Given the description of an element on the screen output the (x, y) to click on. 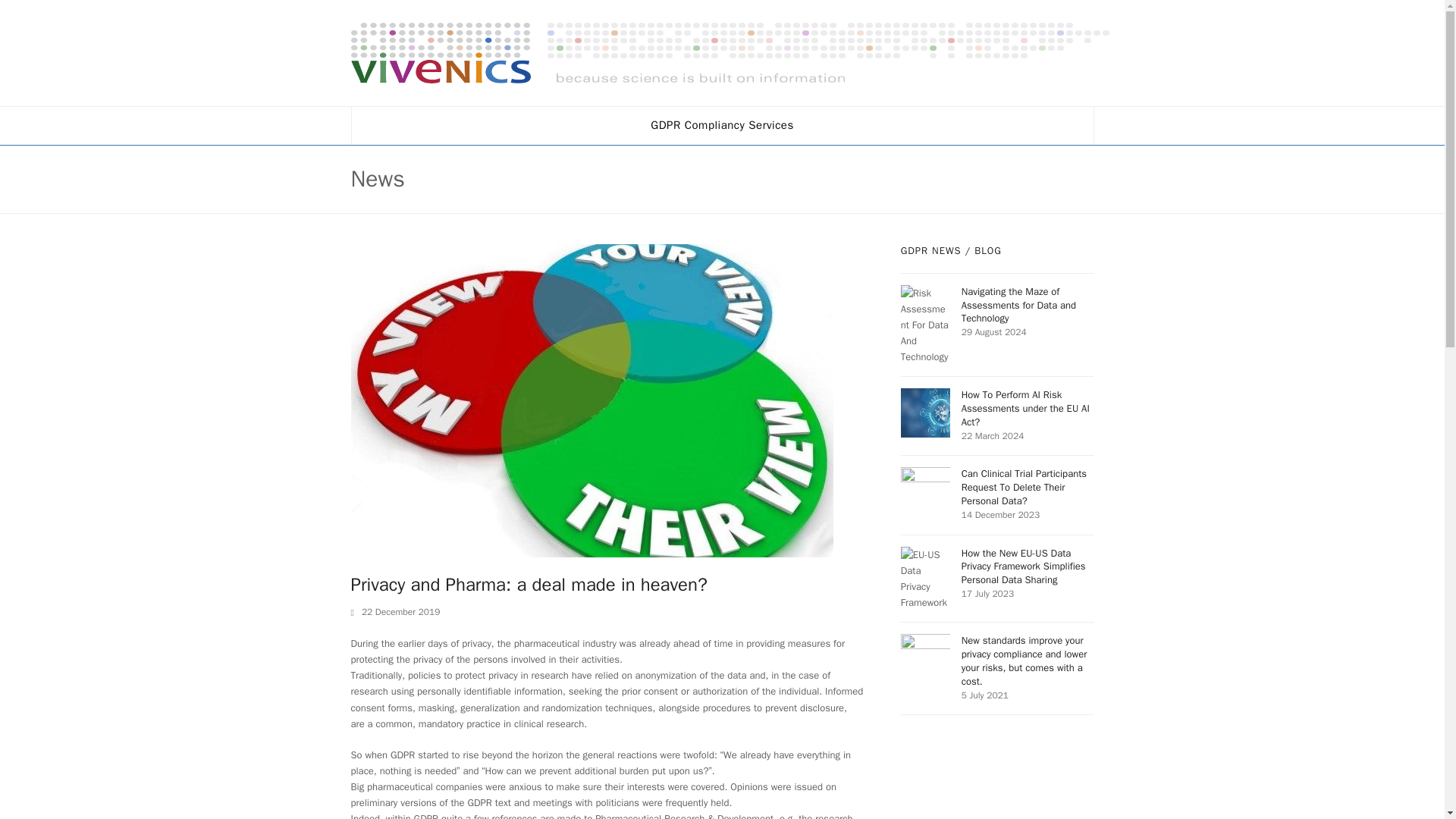
GDPR Compliancy Services (722, 125)
